Given the description of an element on the screen output the (x, y) to click on. 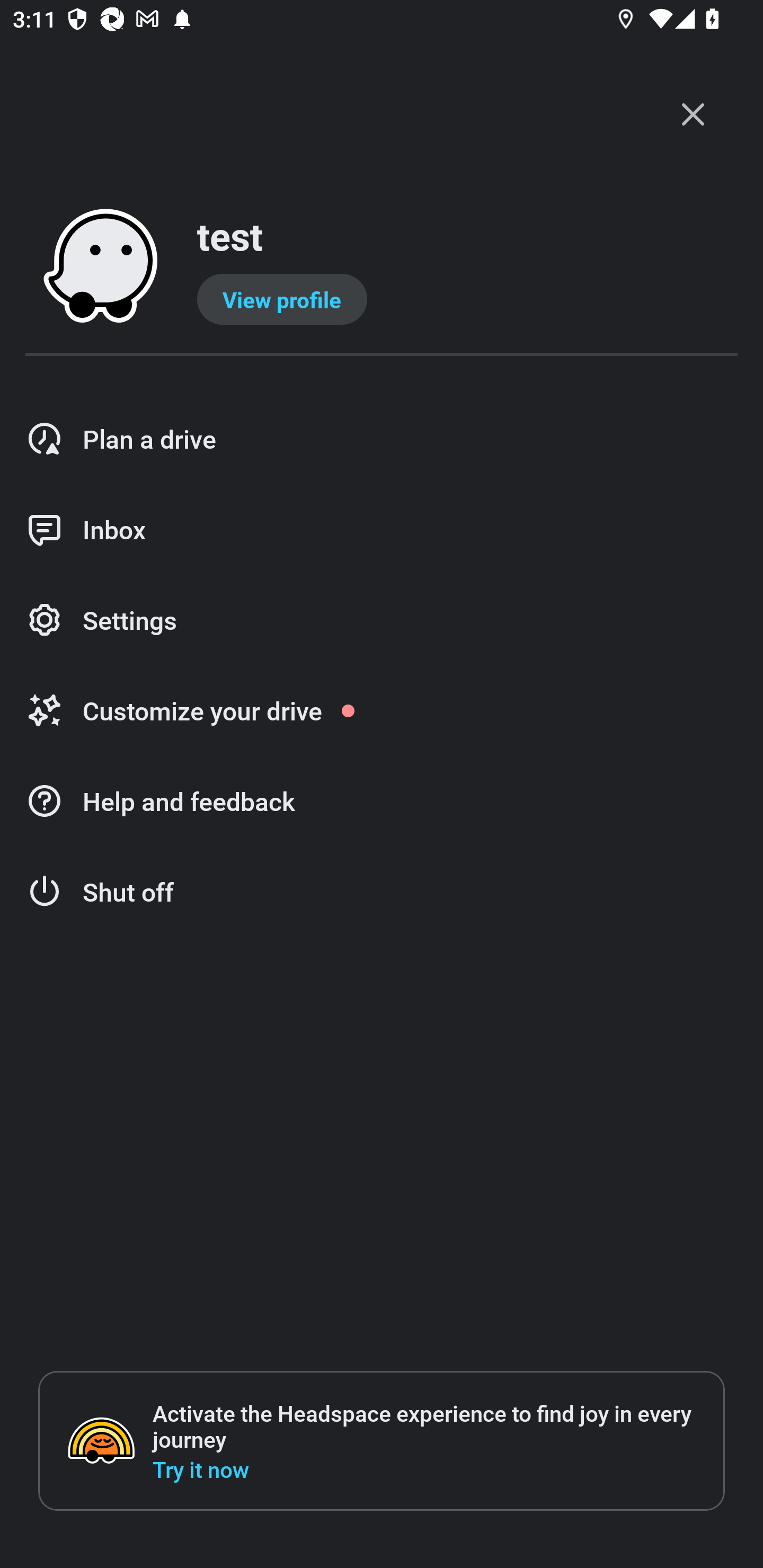
test View profile (381, 266)
View profile (281, 299)
ACTION_CELL_ICON Plan a drive ACTION_CELL_TEXT (381, 438)
ACTION_CELL_ICON Inbox ACTION_CELL_TEXT (381, 529)
ACTION_CELL_ICON Settings ACTION_CELL_TEXT (381, 620)
ACTION_CELL_ICON Shut off ACTION_CELL_TEXT (381, 891)
